Given the description of an element on the screen output the (x, y) to click on. 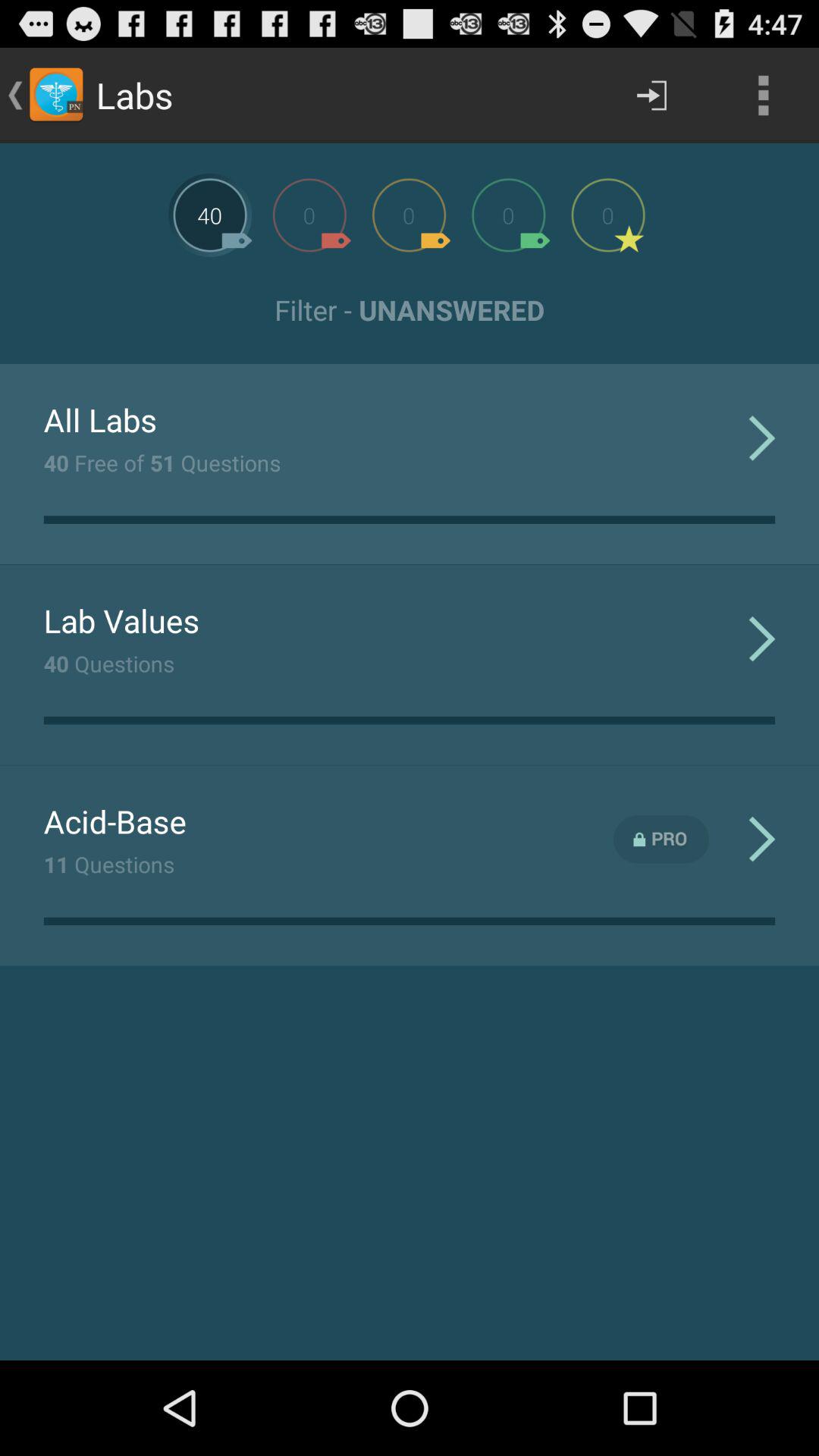
choose category 4 (508, 215)
